Given the description of an element on the screen output the (x, y) to click on. 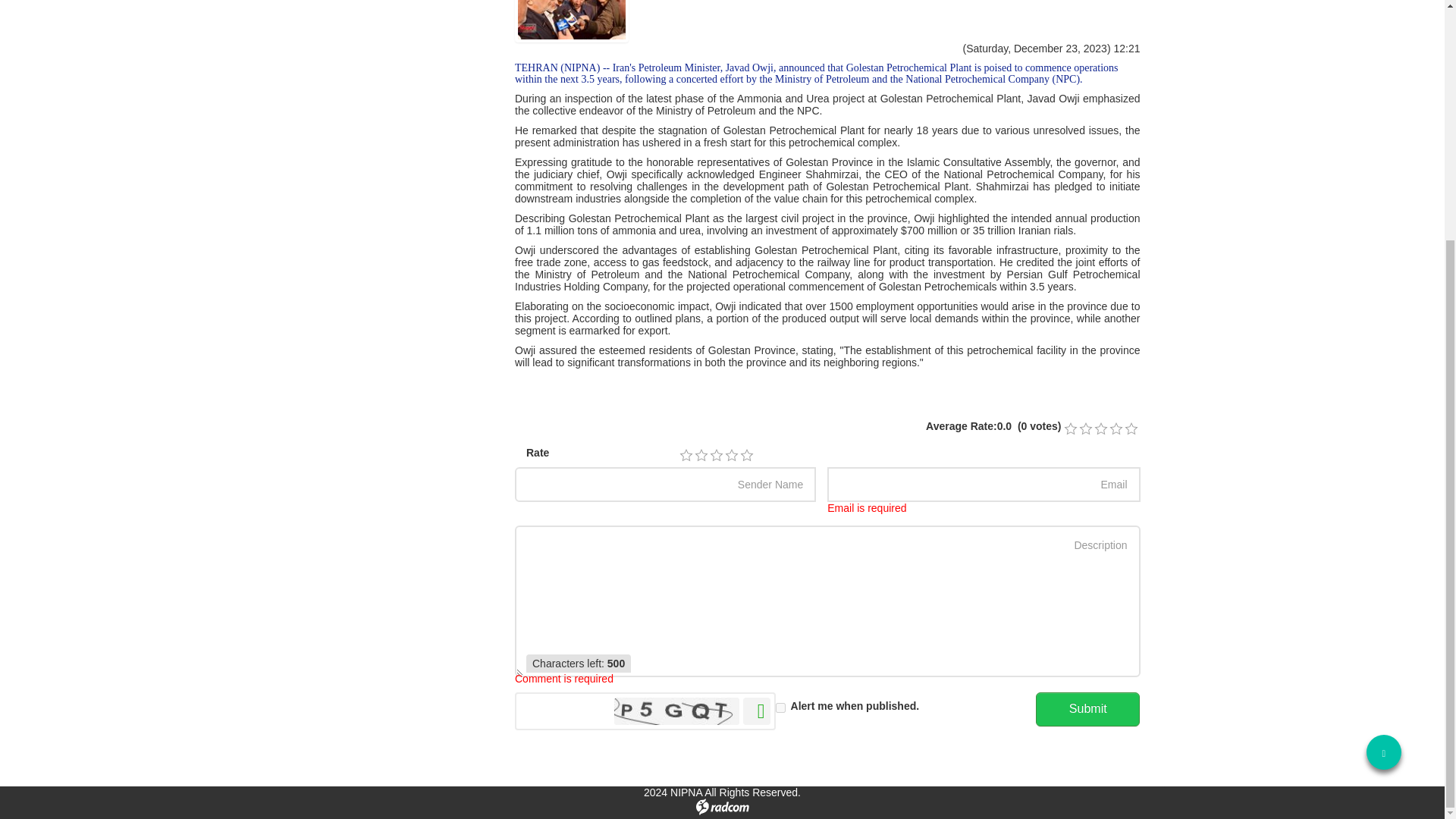
on (781, 707)
1 (686, 455)
0 (1099, 428)
0 (1069, 428)
0 (1085, 428)
0 (1115, 428)
2 (700, 455)
Owji: Golestan Petchem Plant online in 3.5 Years (571, 21)
0 (1130, 428)
